Given the description of an element on the screen output the (x, y) to click on. 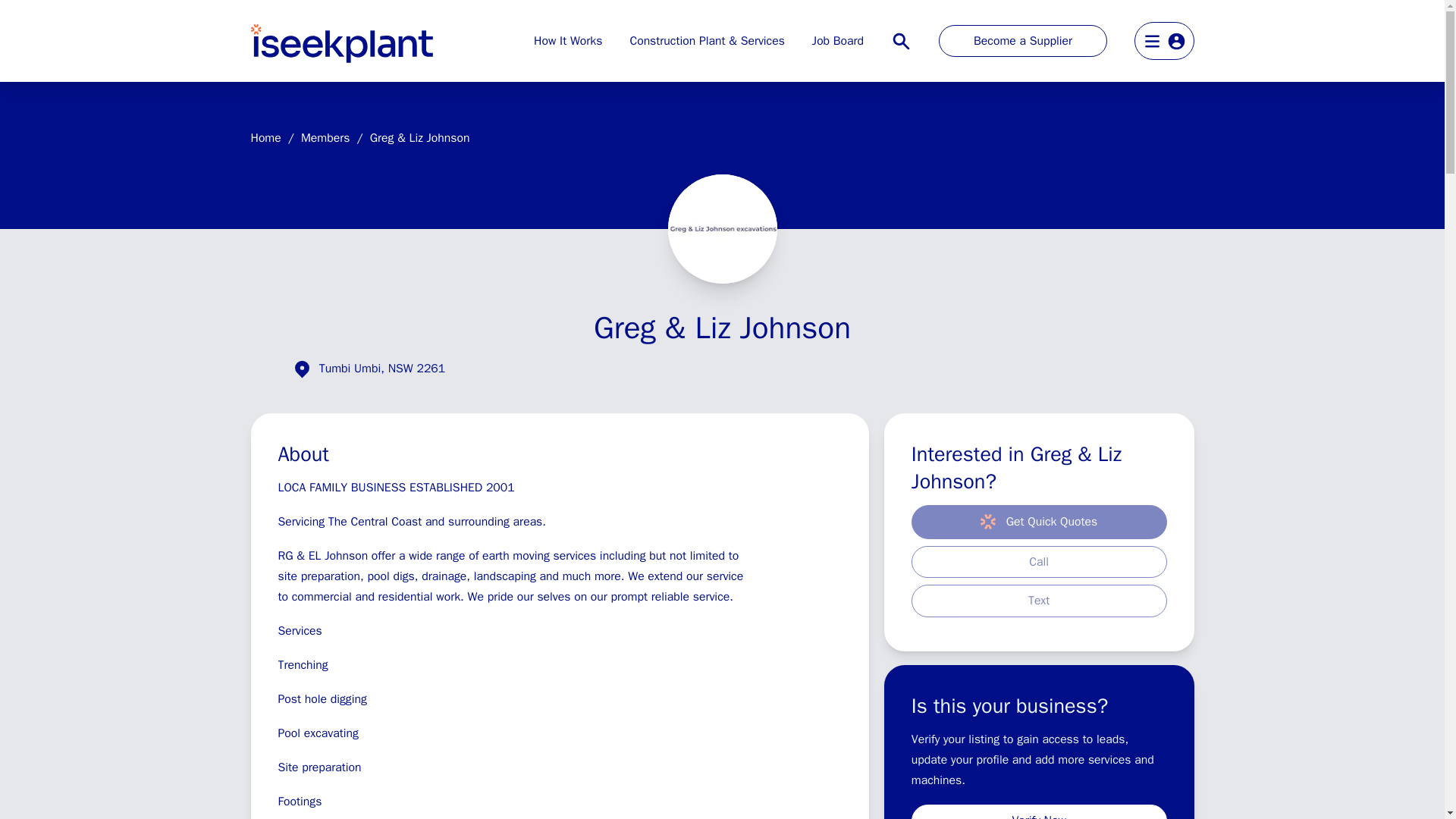
menu (1151, 40)
How It Works (568, 40)
userCircle (1176, 40)
